Given the description of an element on the screen output the (x, y) to click on. 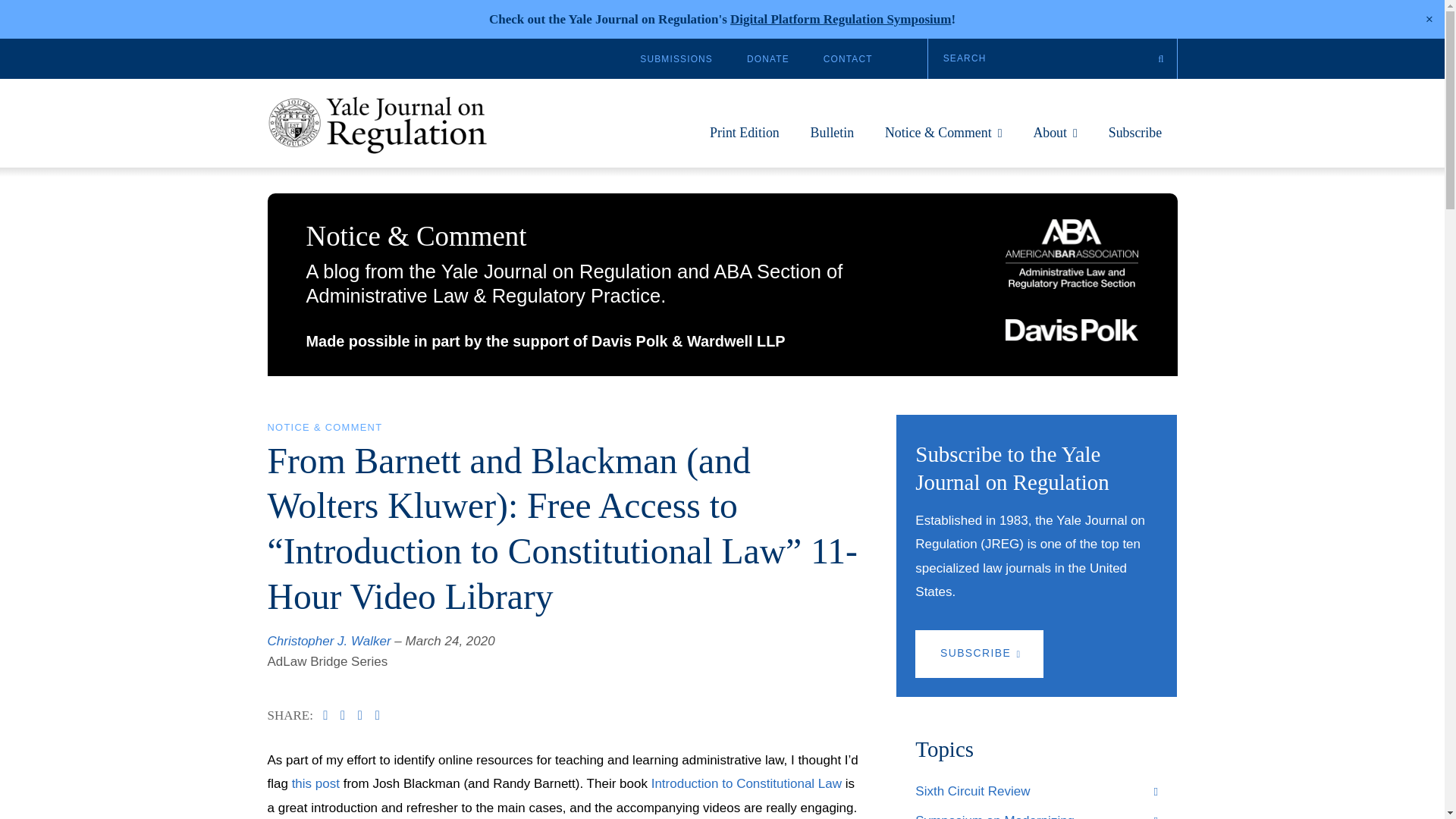
Subscribe (1134, 140)
CONTACT (848, 59)
Submit Search (1160, 58)
SUBMISSIONS (676, 59)
Search (1052, 58)
Christopher J. Walker (328, 640)
Print Edition (744, 140)
About (1054, 140)
DONATE (767, 59)
AdLaw Bridge Series (326, 661)
Digital Platform Regulation Symposium (840, 19)
Bulletin (832, 140)
